Given the description of an element on the screen output the (x, y) to click on. 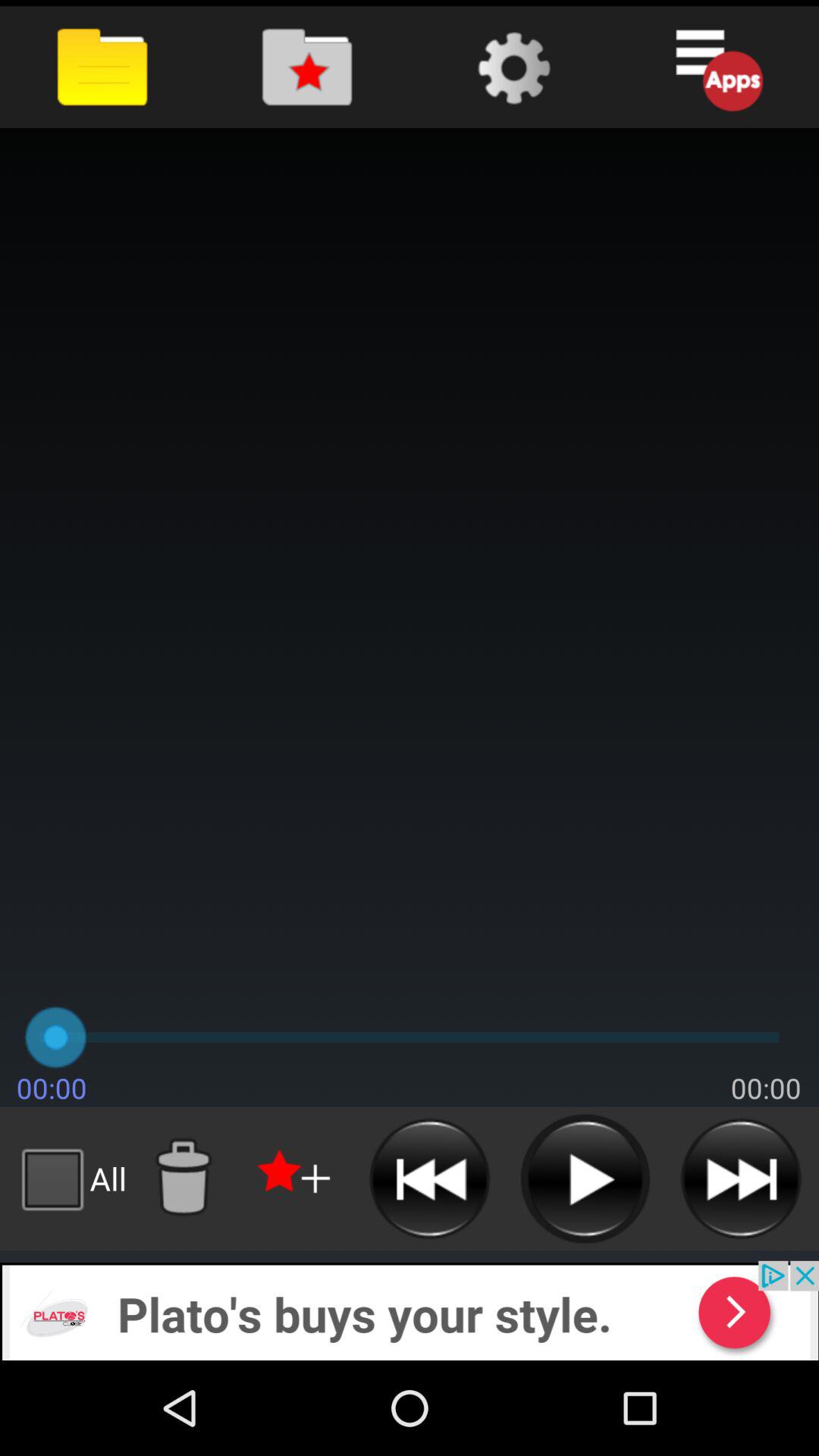
menu of apps (716, 66)
